Given the description of an element on the screen output the (x, y) to click on. 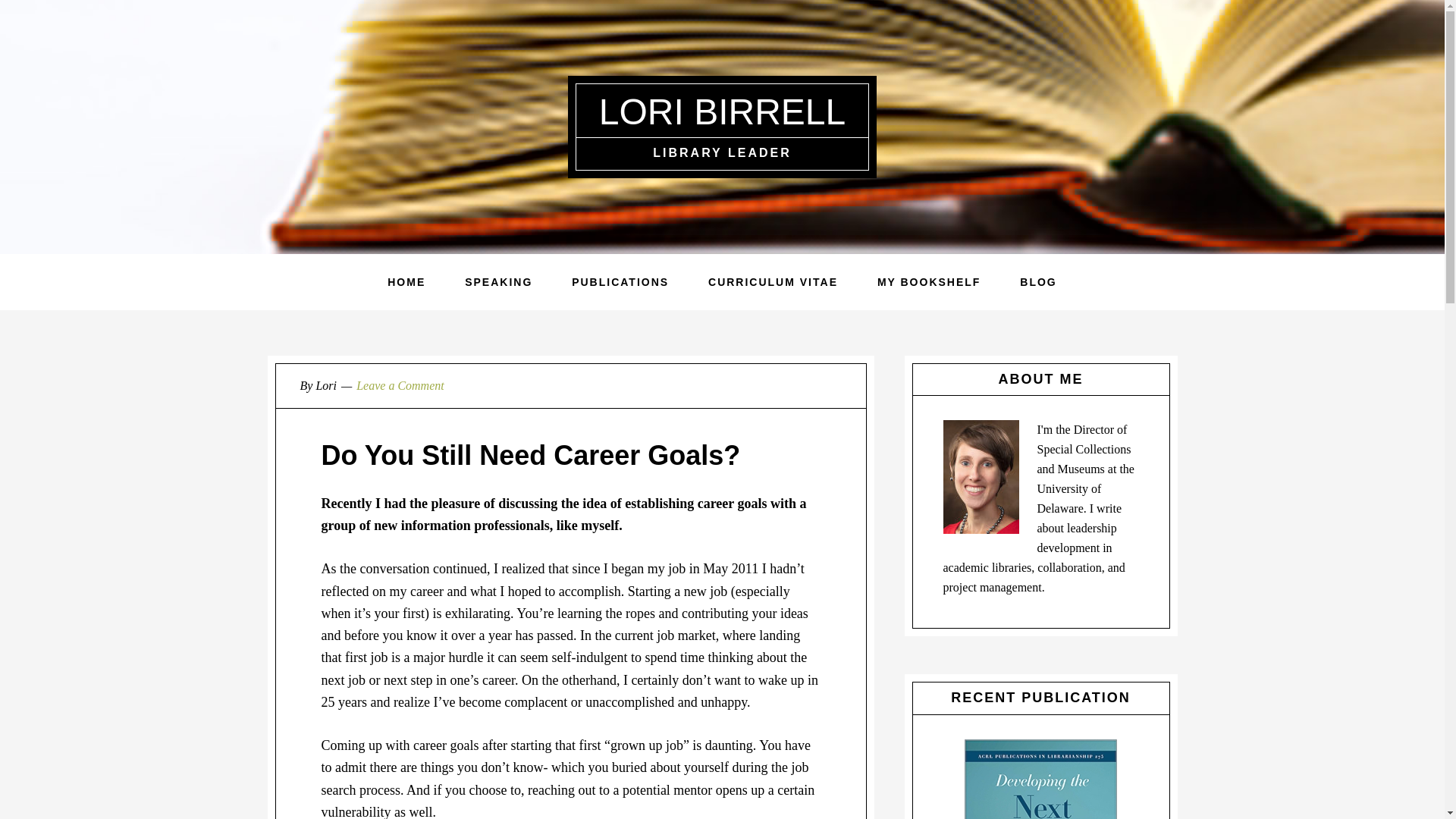
MY BOOKSHELF (928, 281)
HOME (406, 281)
BLOG (1037, 281)
CURRICULUM VITAE (773, 281)
Leave a Comment (400, 385)
SPEAKING (498, 281)
LORI BIRRELL (721, 111)
PUBLICATIONS (620, 281)
